Given the description of an element on the screen output the (x, y) to click on. 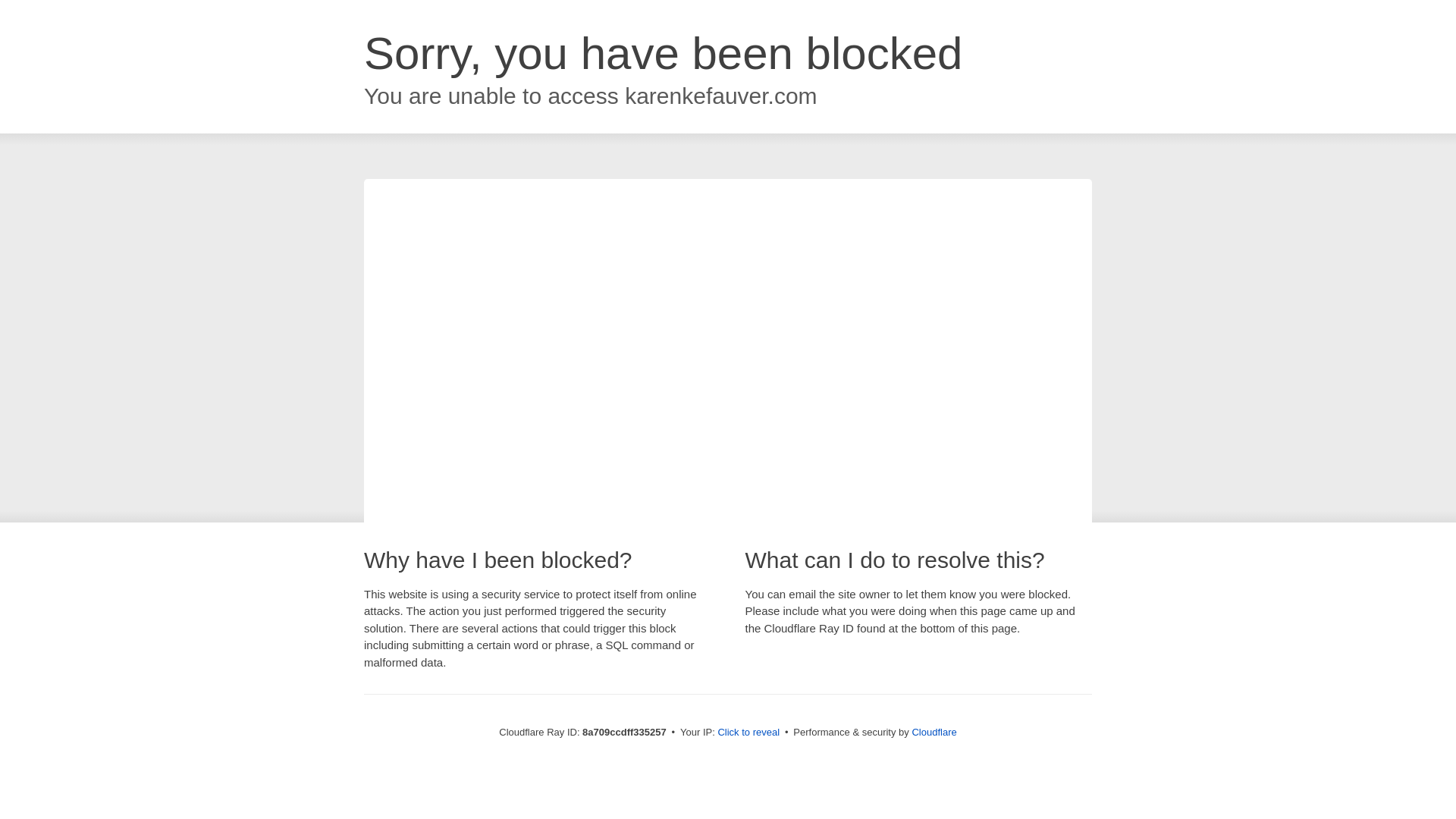
Click to reveal (747, 732)
Cloudflare (933, 731)
